Given the description of an element on the screen output the (x, y) to click on. 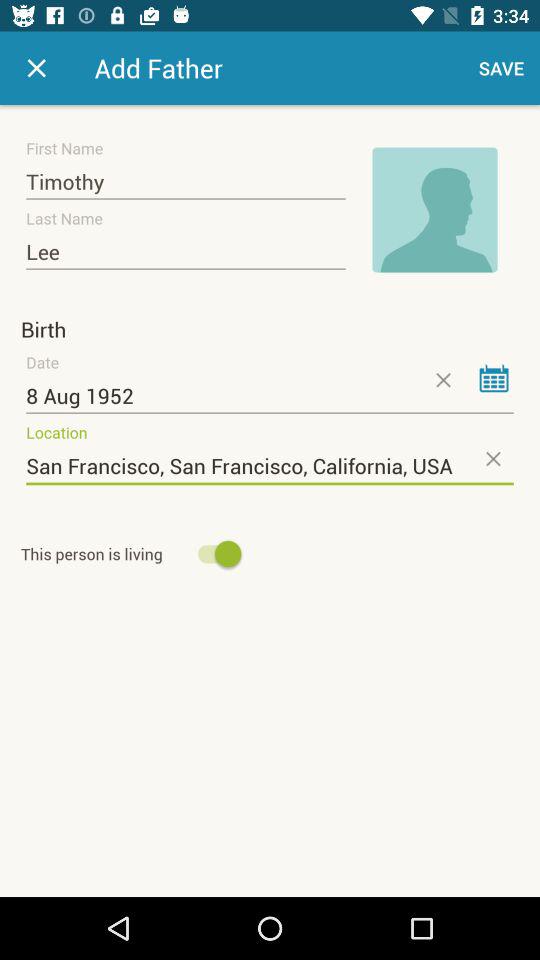
tap 8 aug 1952 item (270, 396)
